Given the description of an element on the screen output the (x, y) to click on. 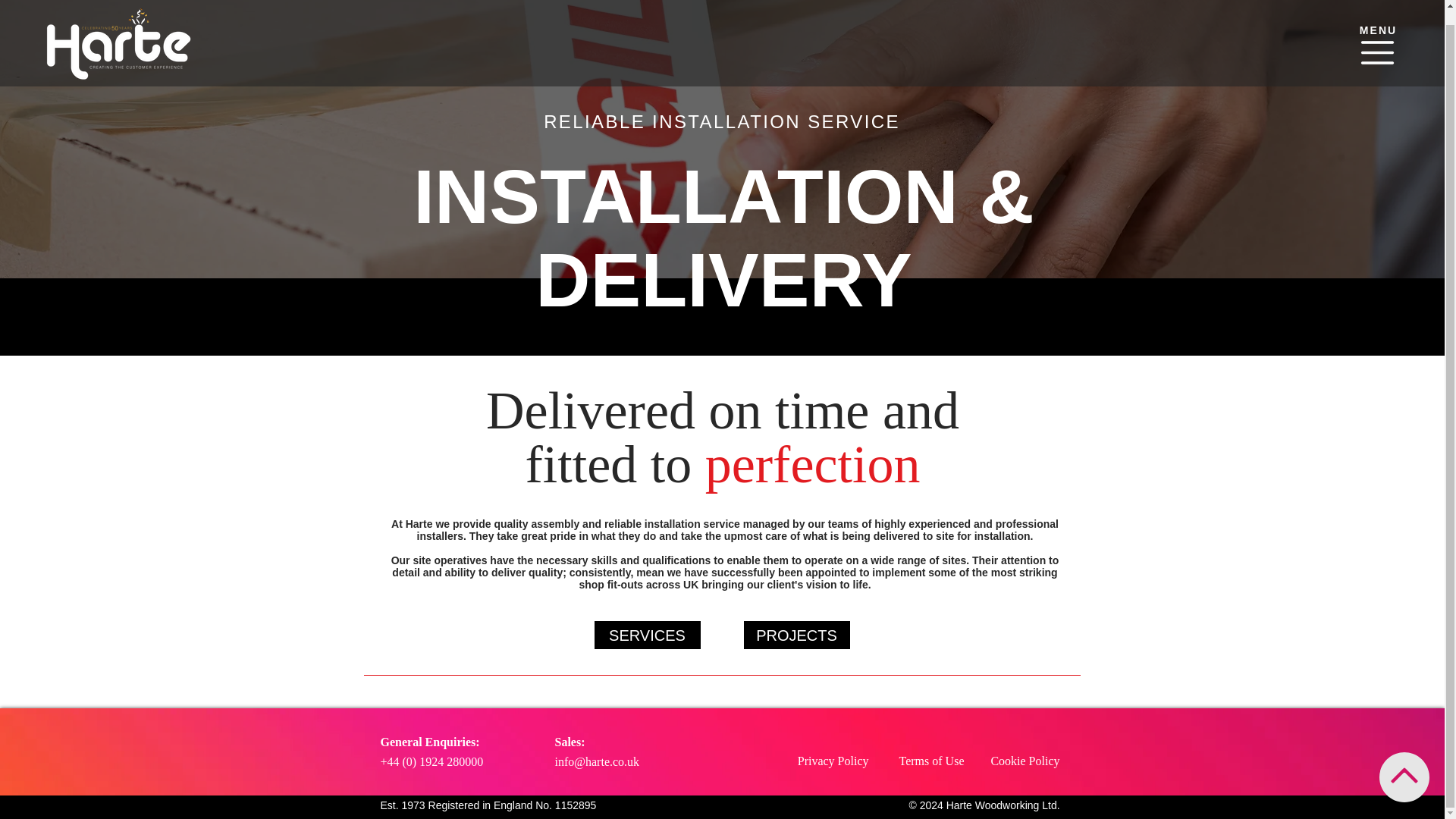
Privacy Policy (833, 760)
PROJECTS (795, 634)
MENU (1378, 15)
Cookie Policy (1024, 760)
SERVICES (647, 634)
Terms of Use (931, 760)
